Given the description of an element on the screen output the (x, y) to click on. 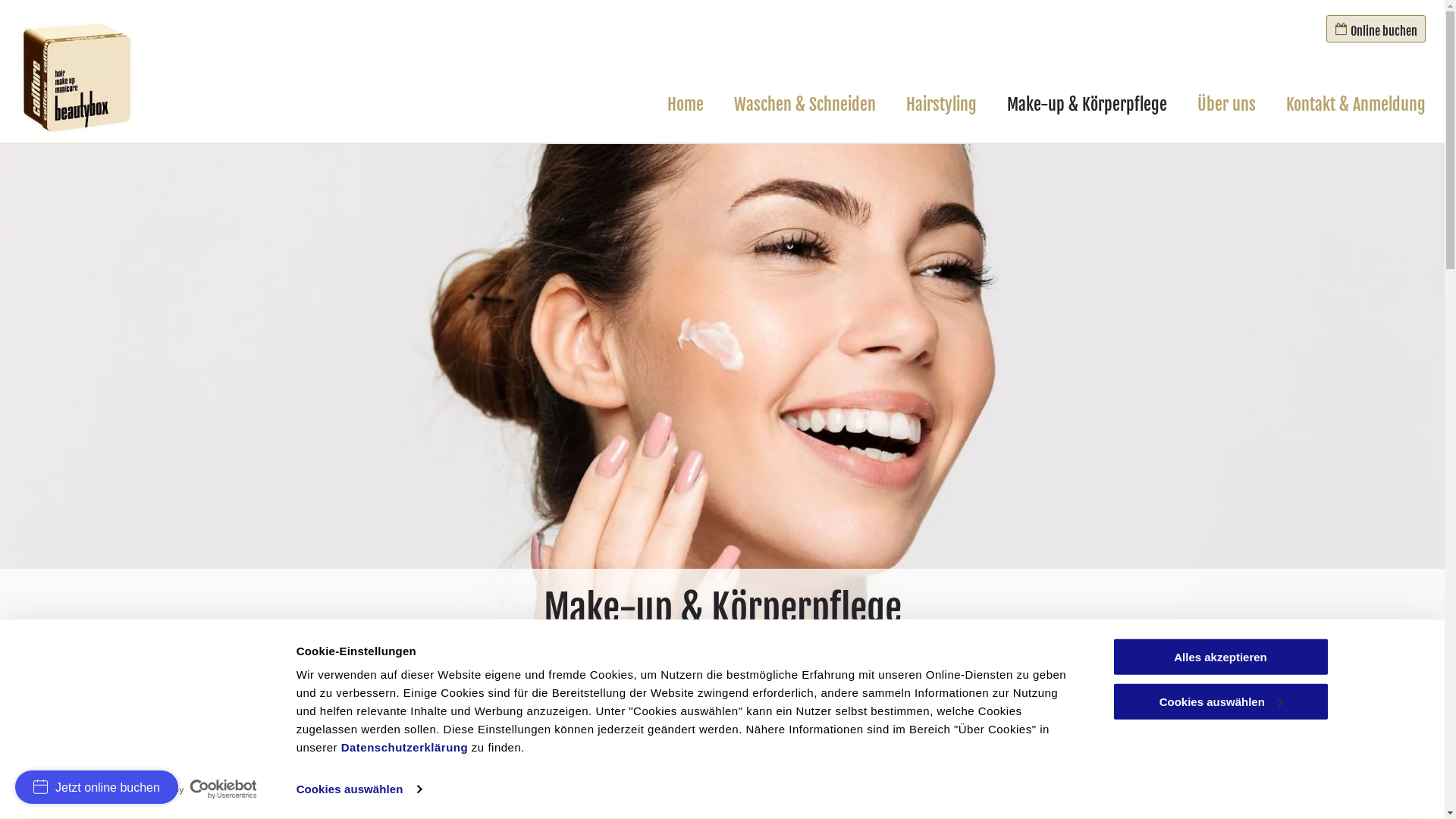
Online buchen Element type: text (1375, 28)
Hairstyling Element type: text (941, 103)
Waschen & Schneiden Element type: text (804, 103)
Alles akzeptieren Element type: text (1219, 656)
Kontakt & Anmeldung Element type: text (1355, 103)
Home Element type: text (685, 103)
Jetzt online buchen Element type: text (96, 786)
